Given the description of an element on the screen output the (x, y) to click on. 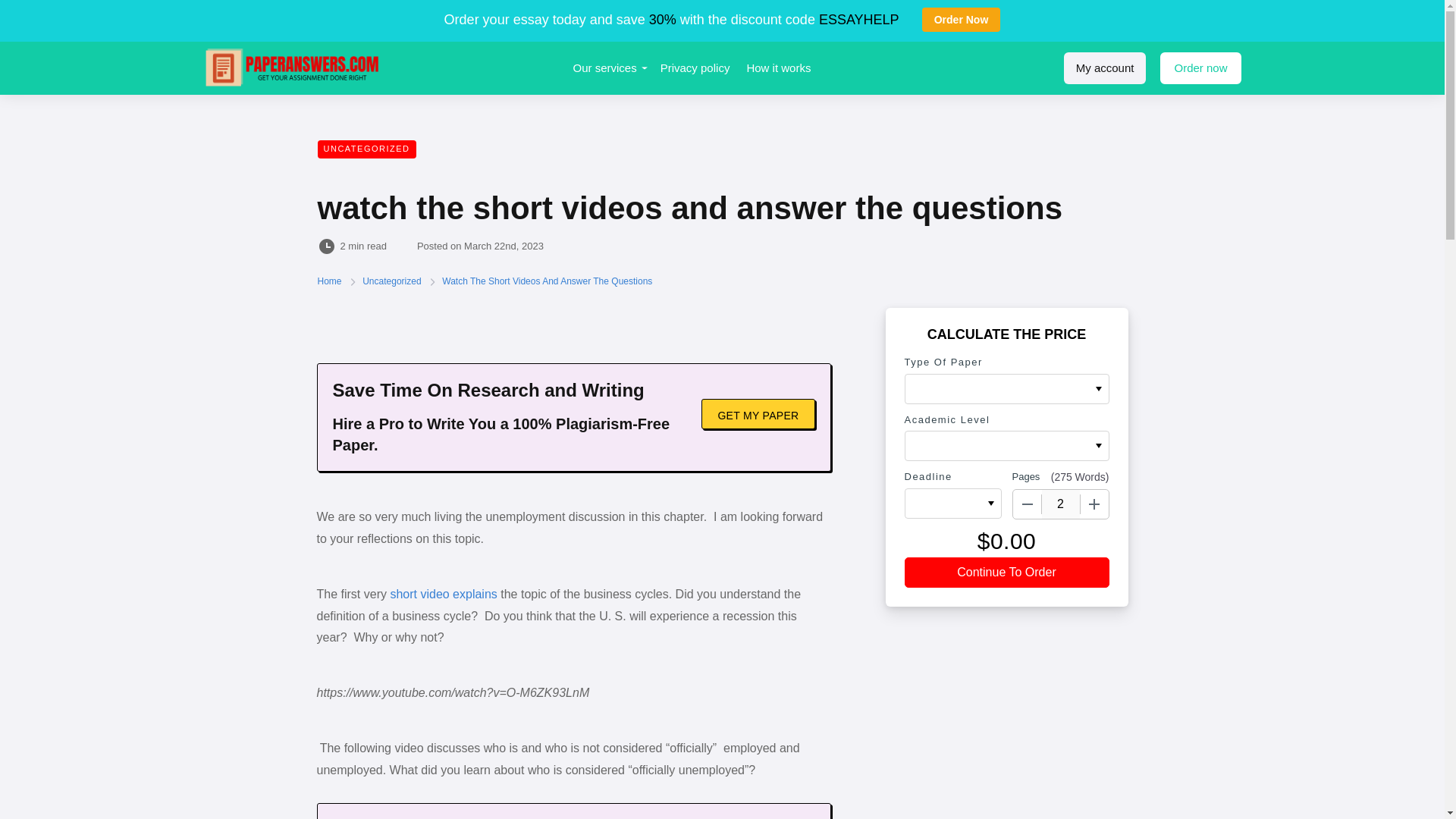
Privacy policy (695, 67)
short video explains (443, 594)
2 (1061, 503)
Decrease (1027, 503)
Increase (1094, 503)
Home (330, 281)
My account (1105, 68)
GET MY PAPER (757, 413)
How it works (777, 67)
UNCATEGORIZED (365, 149)
